Given the description of an element on the screen output the (x, y) to click on. 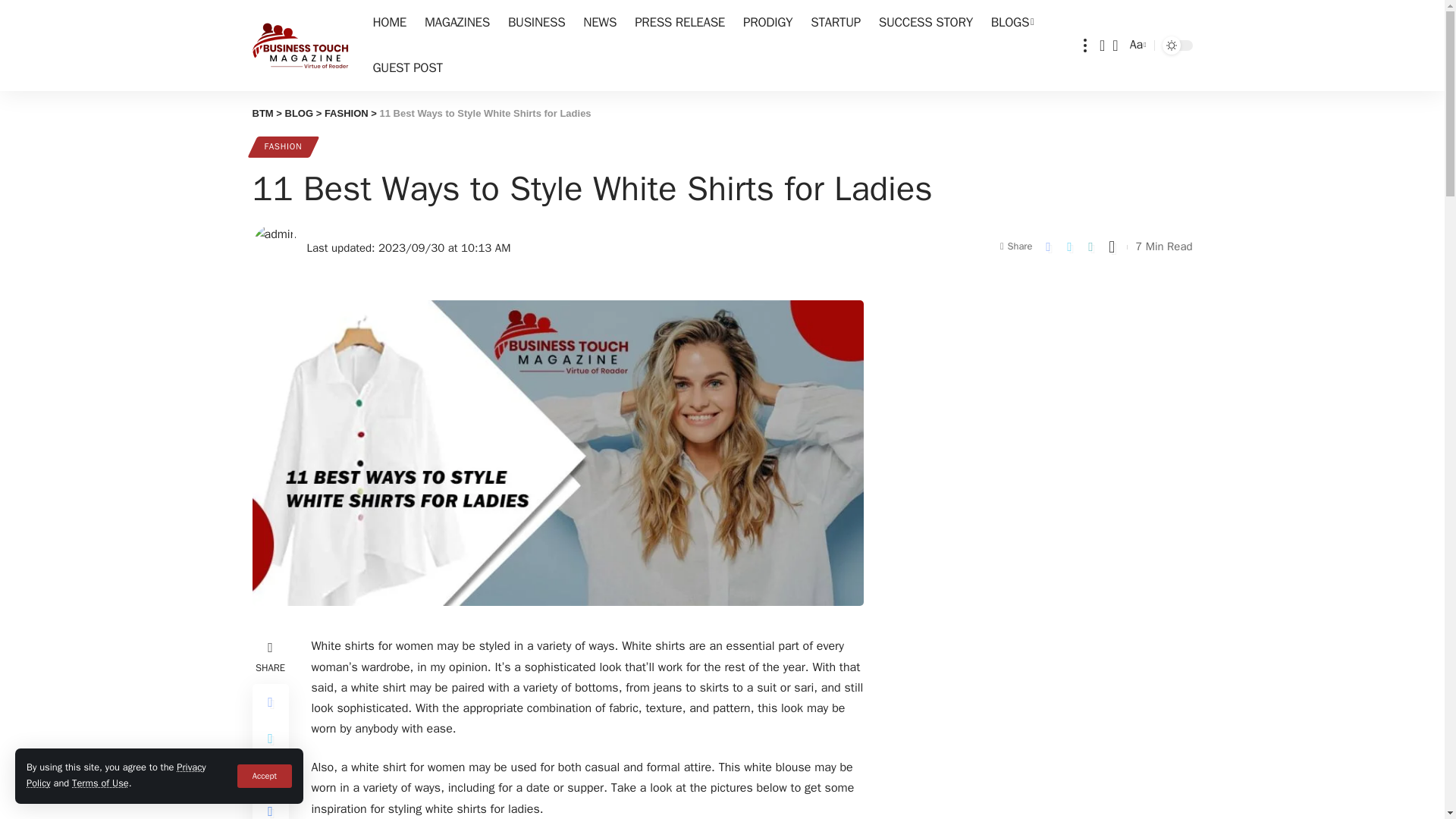
SUCCESS STORY (925, 22)
Go to BTM. (262, 112)
BTM (299, 44)
STARTUP (835, 22)
Privacy Policy (116, 775)
HOME (390, 22)
BUSINESS (536, 22)
Go to the FASHION Category archives. (346, 112)
GUEST POST (407, 67)
PRESS RELEASE (679, 22)
